Given the description of an element on the screen output the (x, y) to click on. 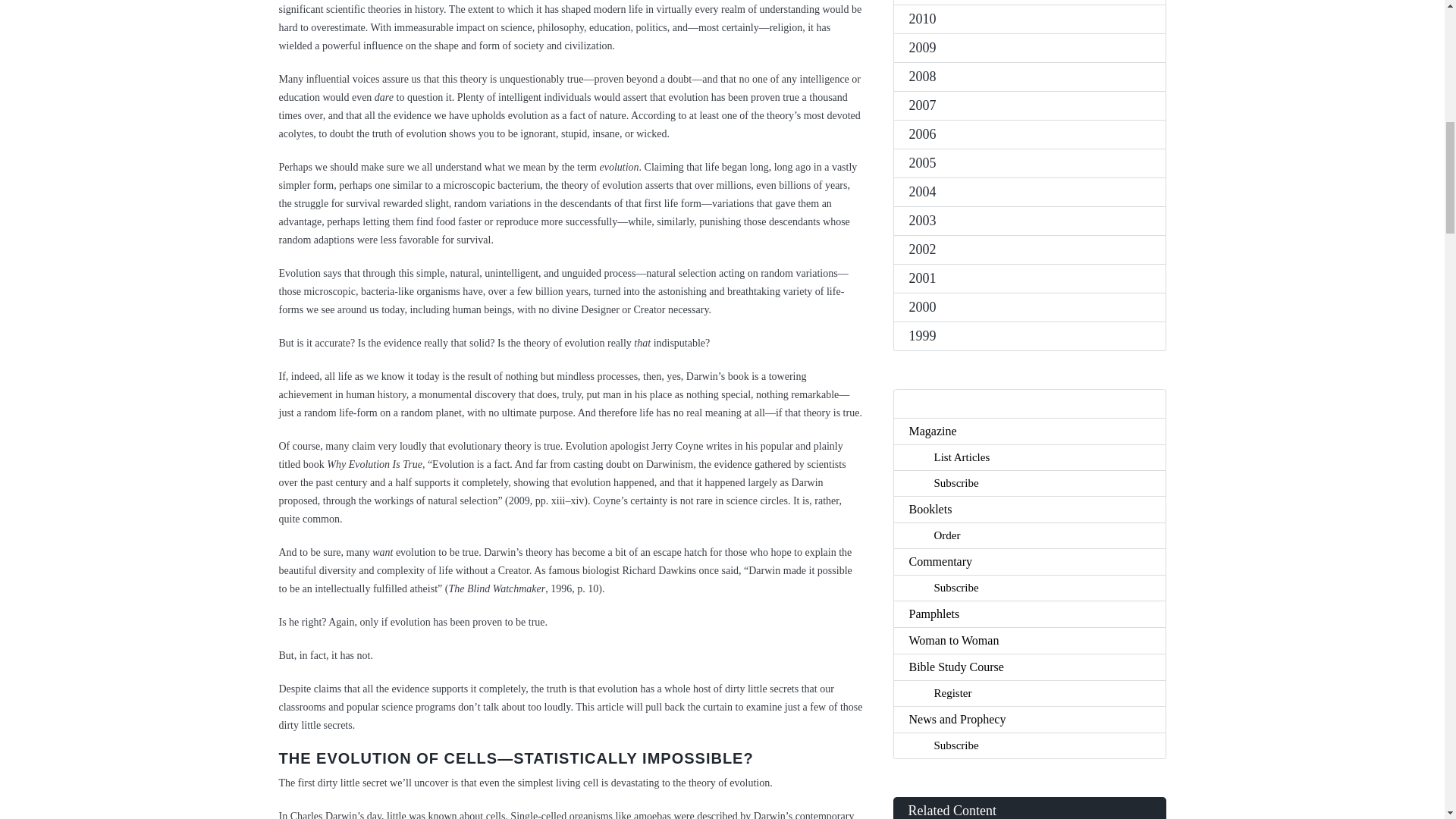
2011 (1028, 2)
2008 (1028, 76)
2009 (1028, 47)
2010 (1028, 18)
